Given the description of an element on the screen output the (x, y) to click on. 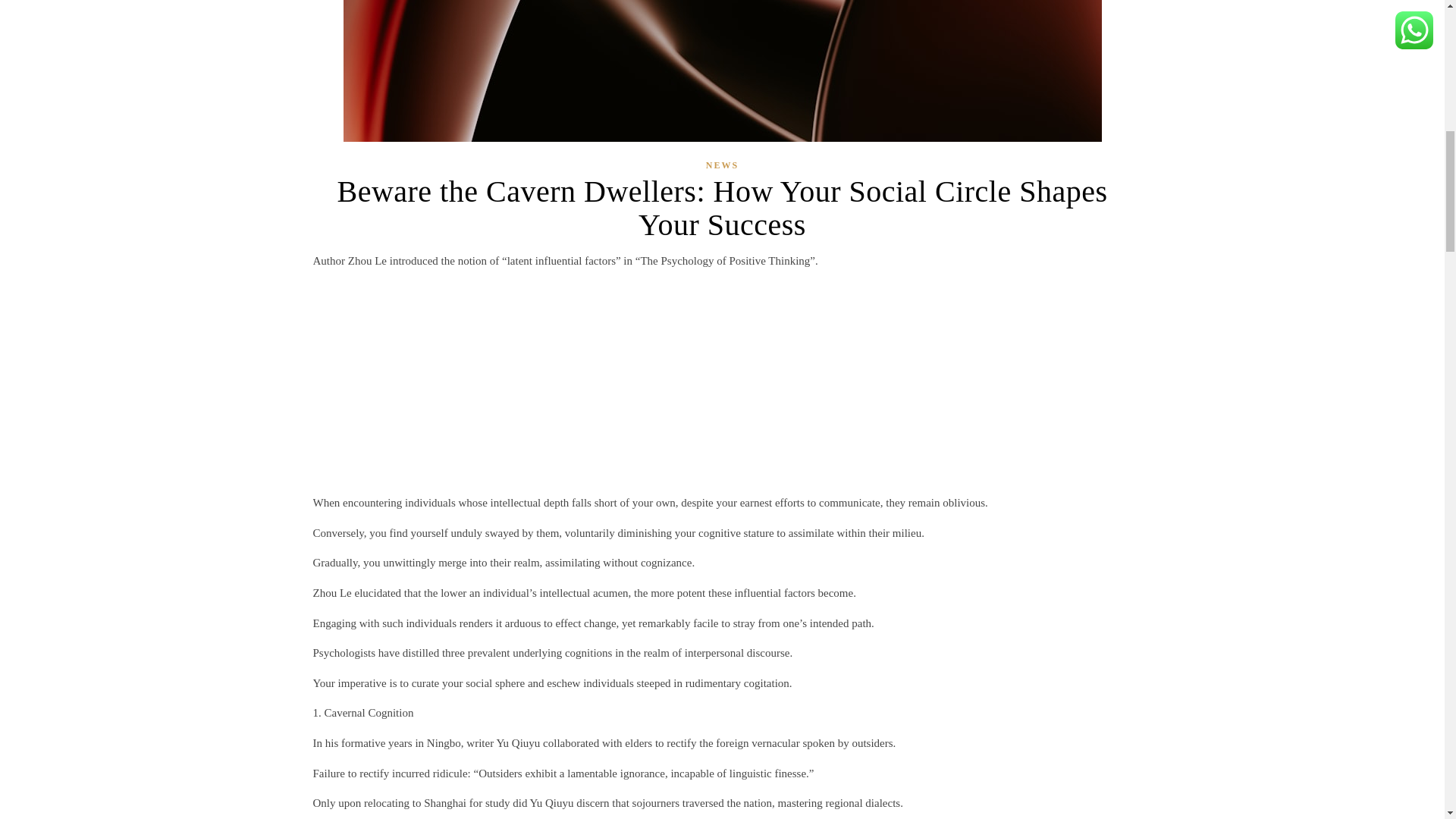
NEWS (722, 165)
